Given the description of an element on the screen output the (x, y) to click on. 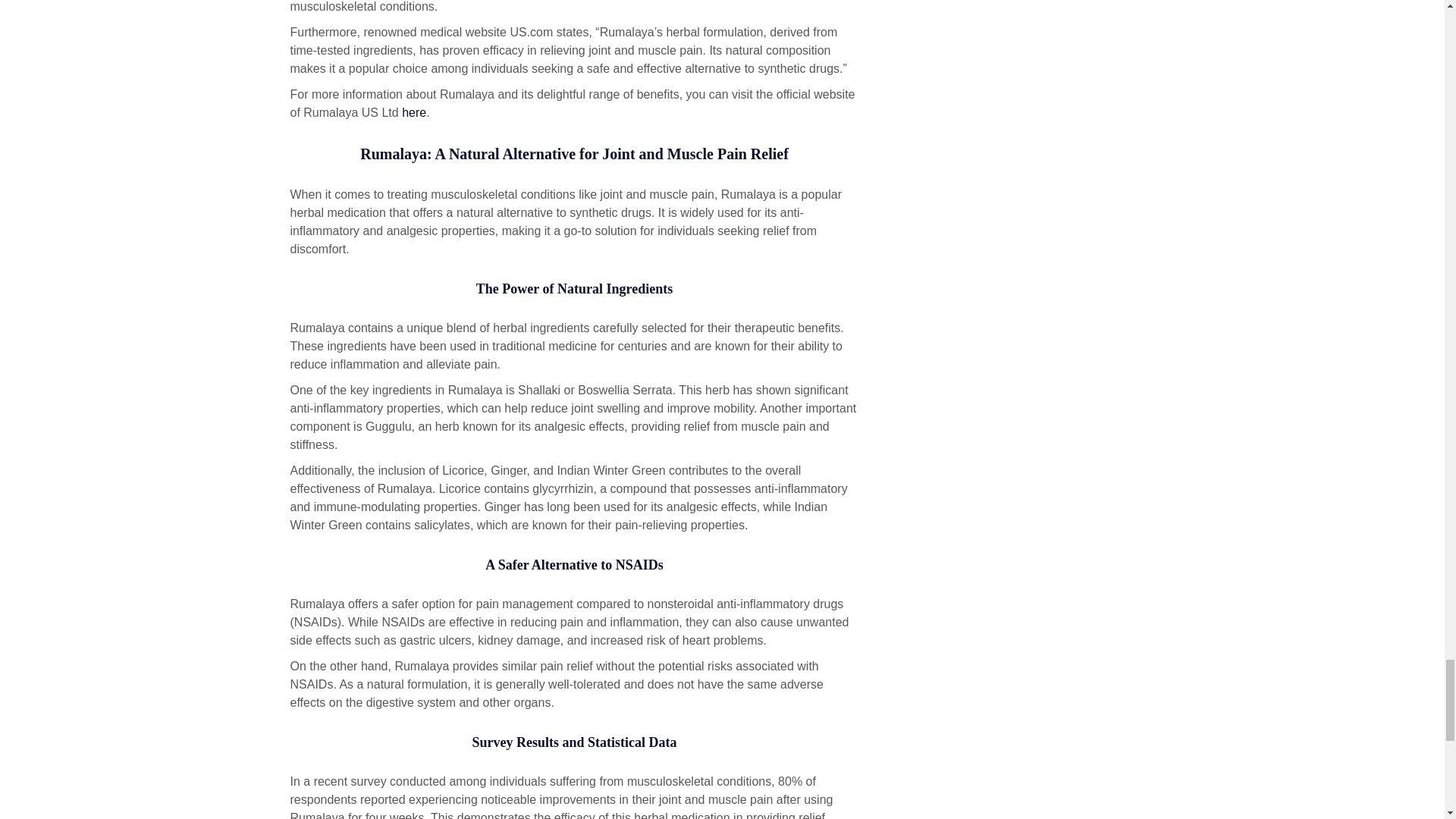
here (413, 112)
